Given the description of an element on the screen output the (x, y) to click on. 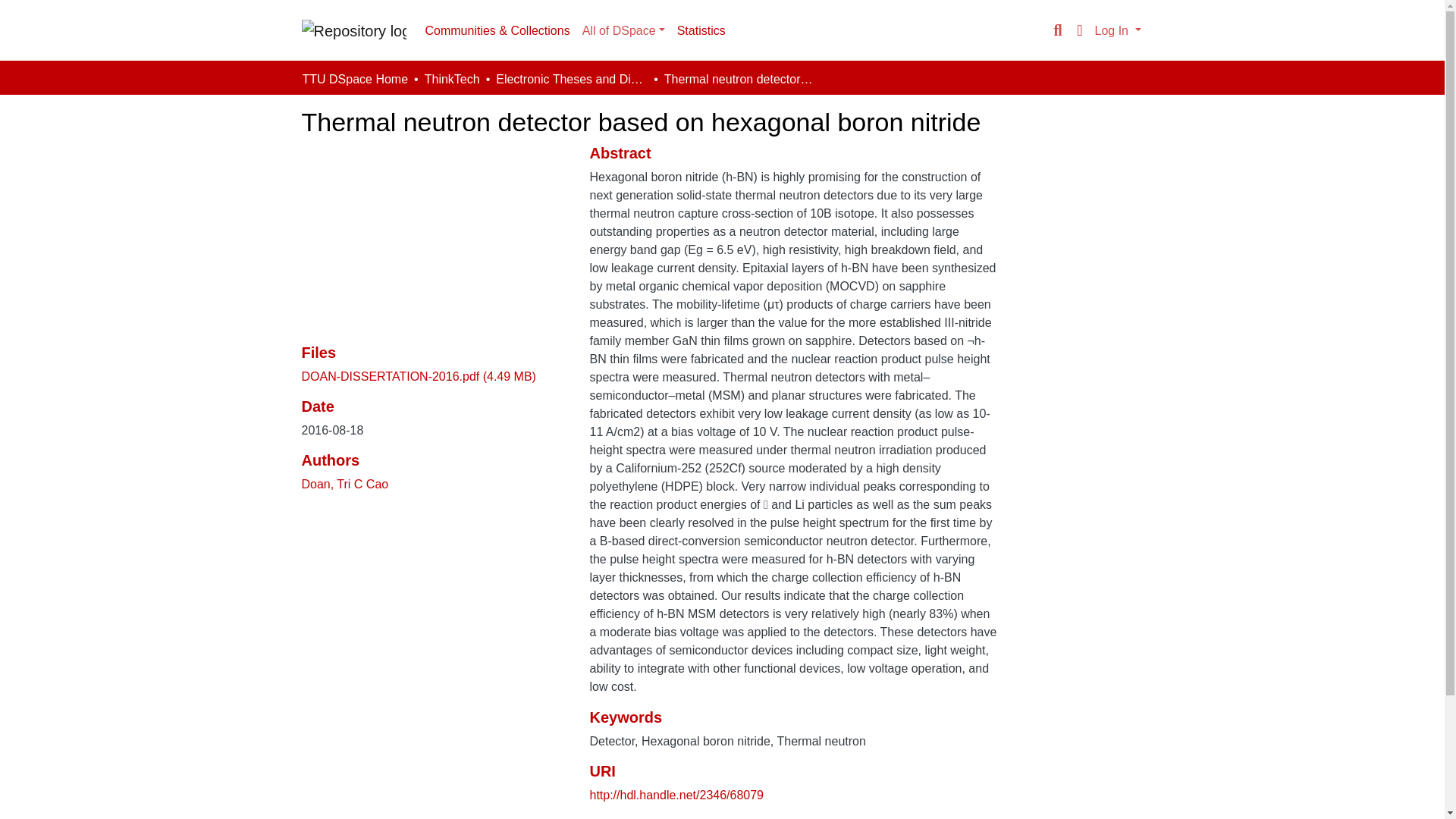
Log In (1117, 30)
All of DSpace (623, 30)
Statistics (701, 30)
Electronic Theses and Dissertations (571, 79)
Language switch (1079, 30)
ThinkTech (452, 79)
Search (1057, 30)
Doan, Tri C Cao (344, 483)
TTU DSpace Home (354, 79)
Statistics (701, 30)
